Given the description of an element on the screen output the (x, y) to click on. 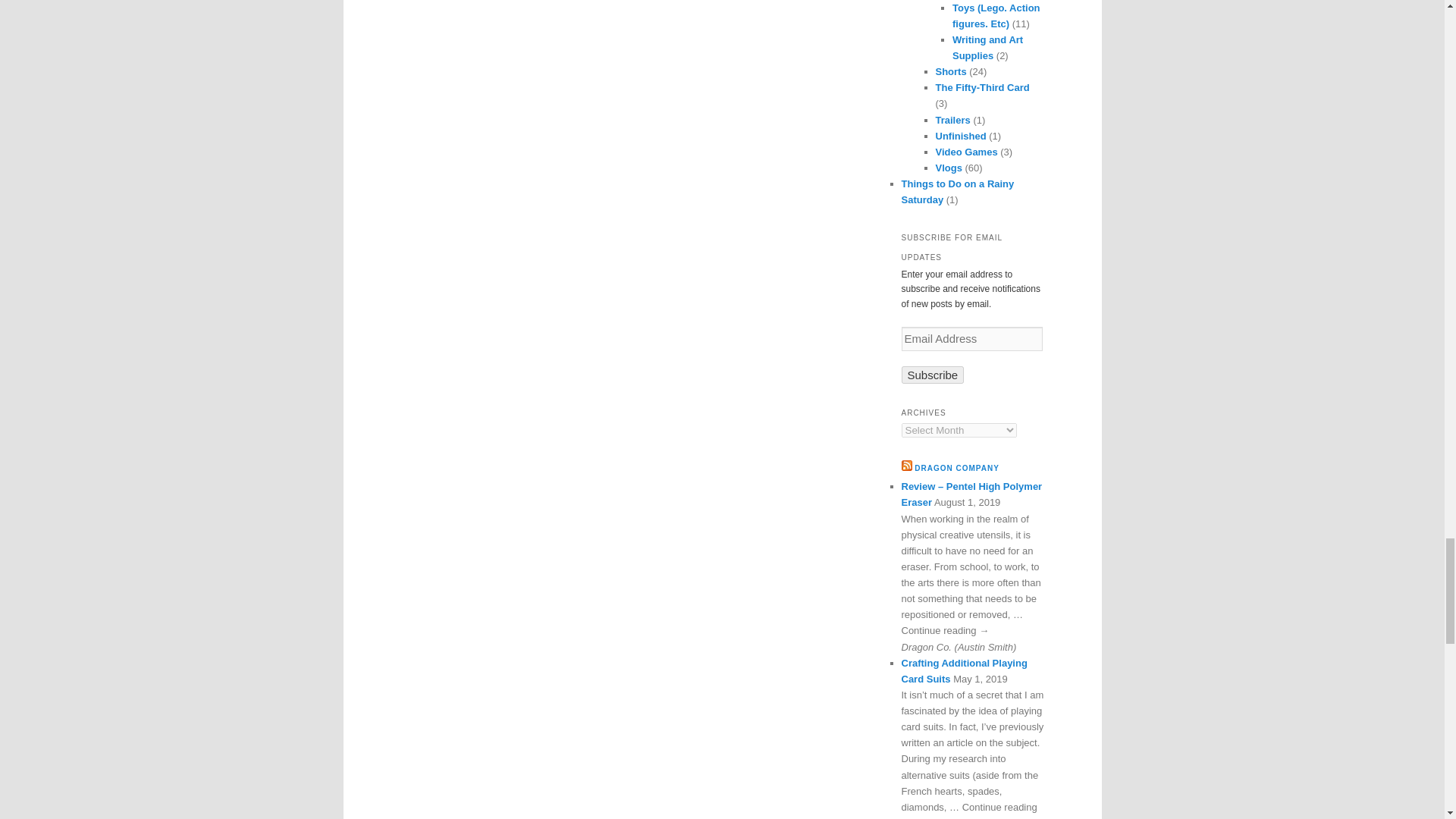
Subscribe (932, 375)
